Given the description of an element on the screen output the (x, y) to click on. 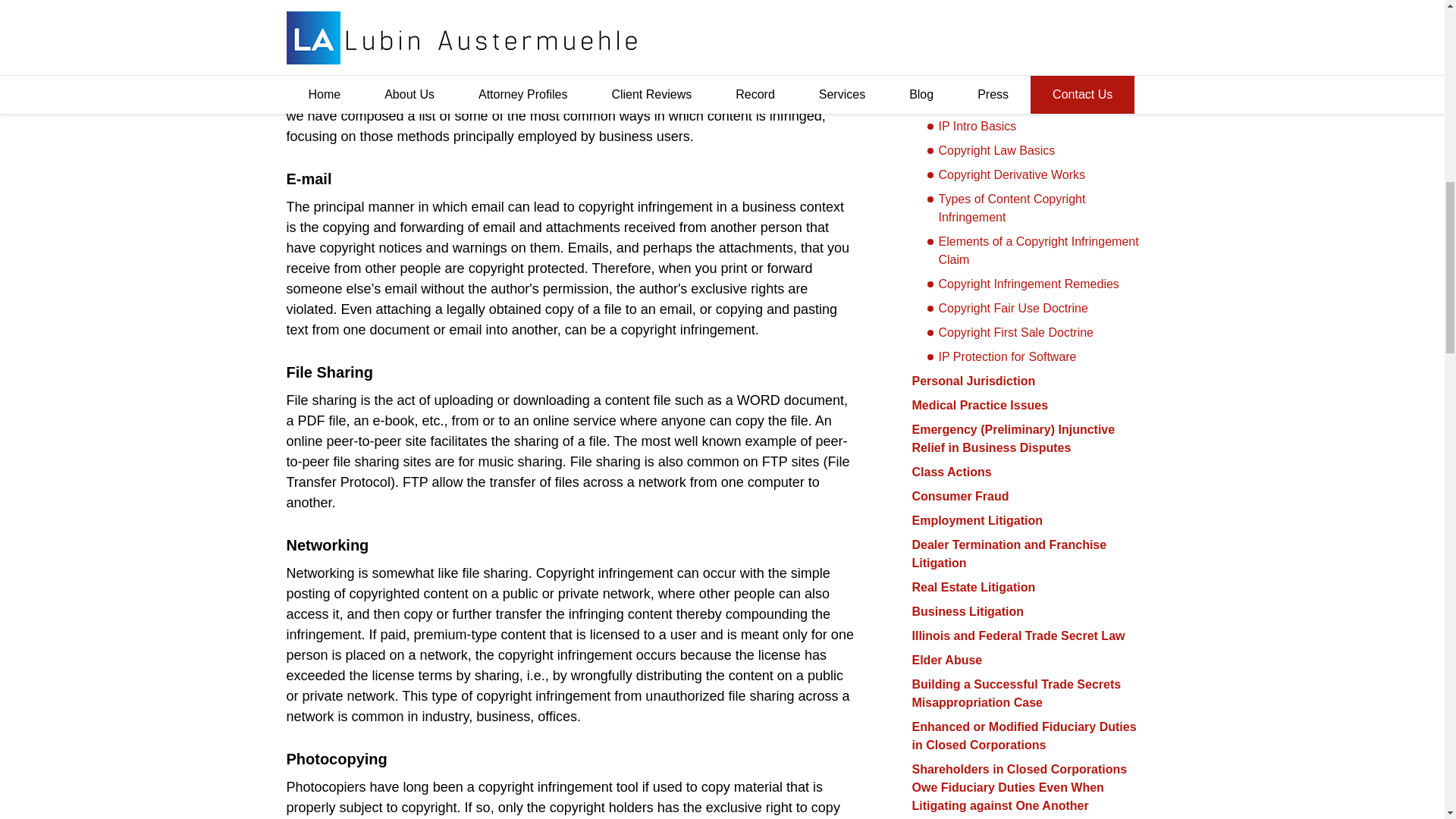
Copyright Infringement Remedies (1032, 284)
Intellectual Property (969, 101)
Accounting (944, 5)
Medical Practice Issues (979, 404)
IP Intro Basics (1032, 126)
Elements of a Copyright Infringement Claim (1032, 250)
Restrictive Covenants (975, 52)
Types of Content Copyright Infringement (1032, 208)
Personal Jurisdiction (973, 380)
Copyright First Sale Doctrine (1032, 332)
